Given the description of an element on the screen output the (x, y) to click on. 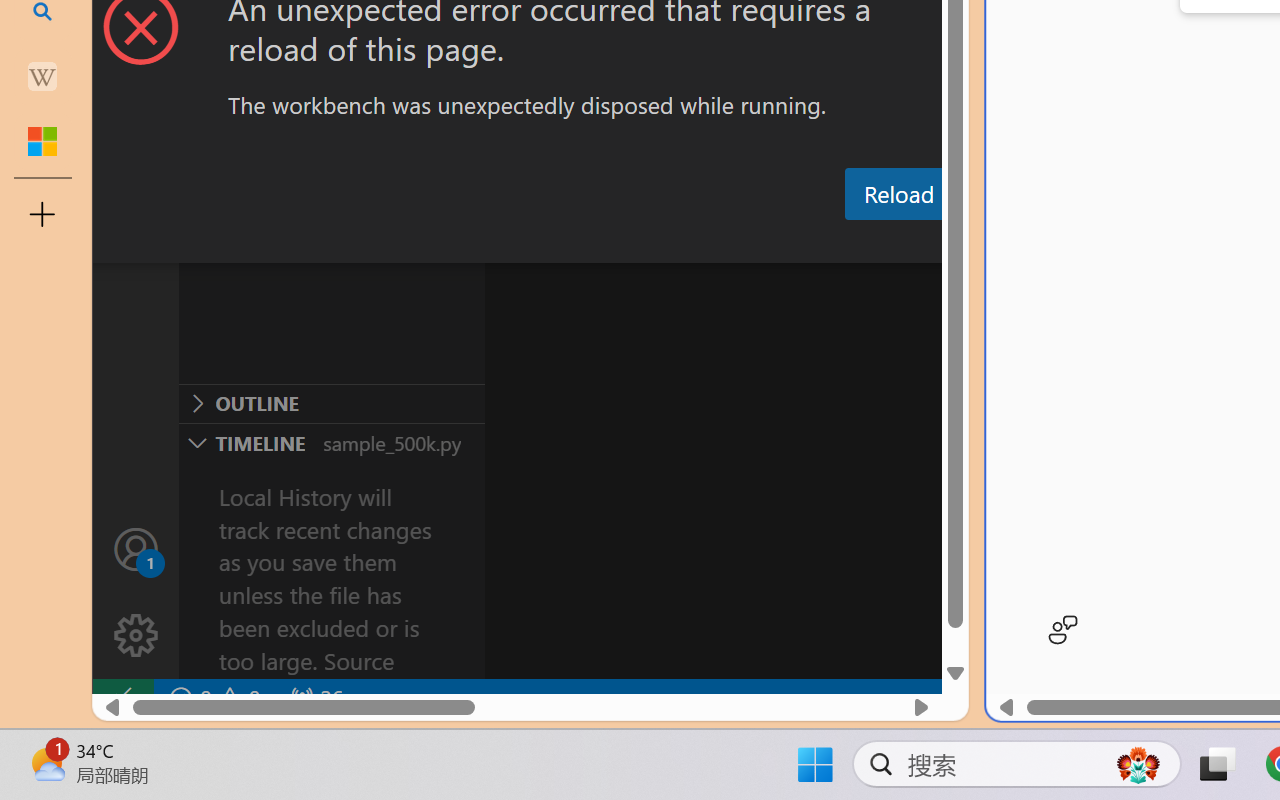
Problems (Ctrl+Shift+M) (567, 243)
Accounts - Sign in requested (135, 548)
Terminal (Ctrl+`) (1021, 243)
Reload (898, 193)
Output (Ctrl+Shift+U) (696, 243)
No Problems (212, 698)
